Given the description of an element on the screen output the (x, y) to click on. 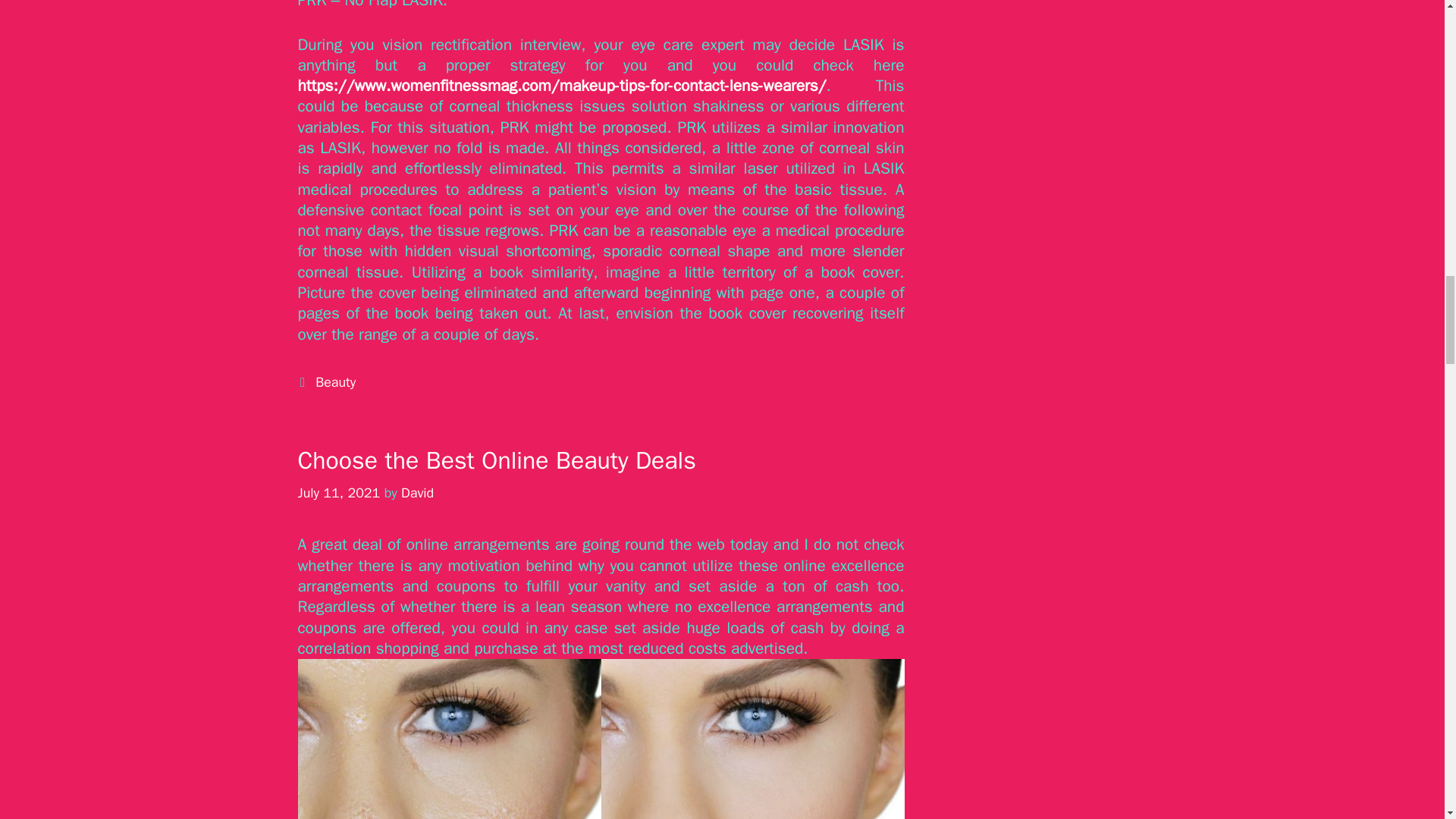
6:53 am (338, 492)
July 11, 2021 (338, 492)
Choose the Best Online Beauty Deals (496, 460)
Beauty (335, 381)
David (417, 492)
View all posts by David (417, 492)
